Given the description of an element on the screen output the (x, y) to click on. 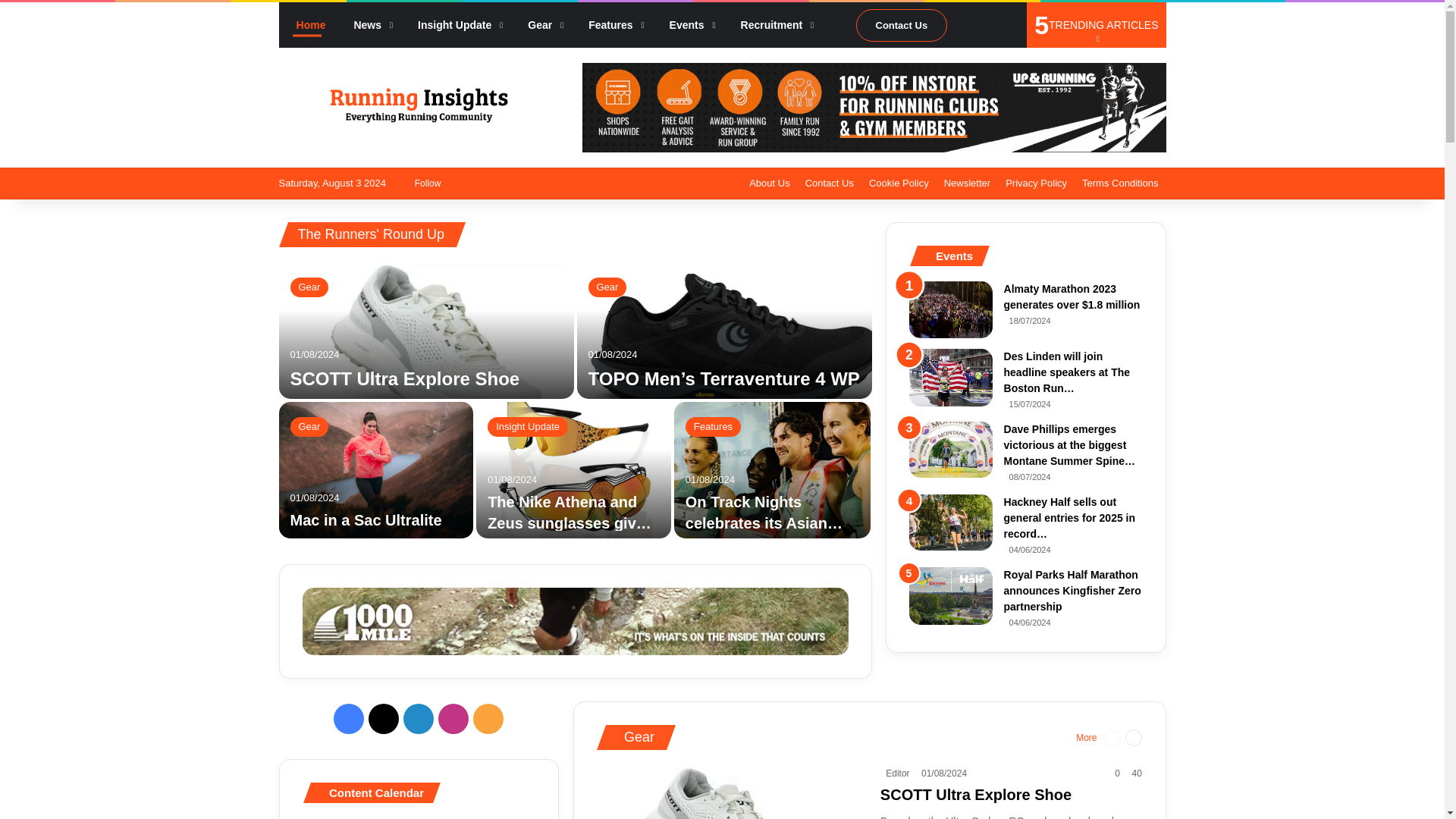
Follow (424, 183)
Recruitment (772, 24)
Home (307, 24)
Sidebar (984, 24)
Gear (540, 24)
Insight Update (455, 24)
Cookie Policy (898, 183)
Search for (1007, 24)
Random Article (962, 24)
Features (610, 24)
Switch skin (508, 183)
Contact Us (901, 25)
About Us (768, 183)
News (368, 24)
Log In (462, 183)
